Given the description of an element on the screen output the (x, y) to click on. 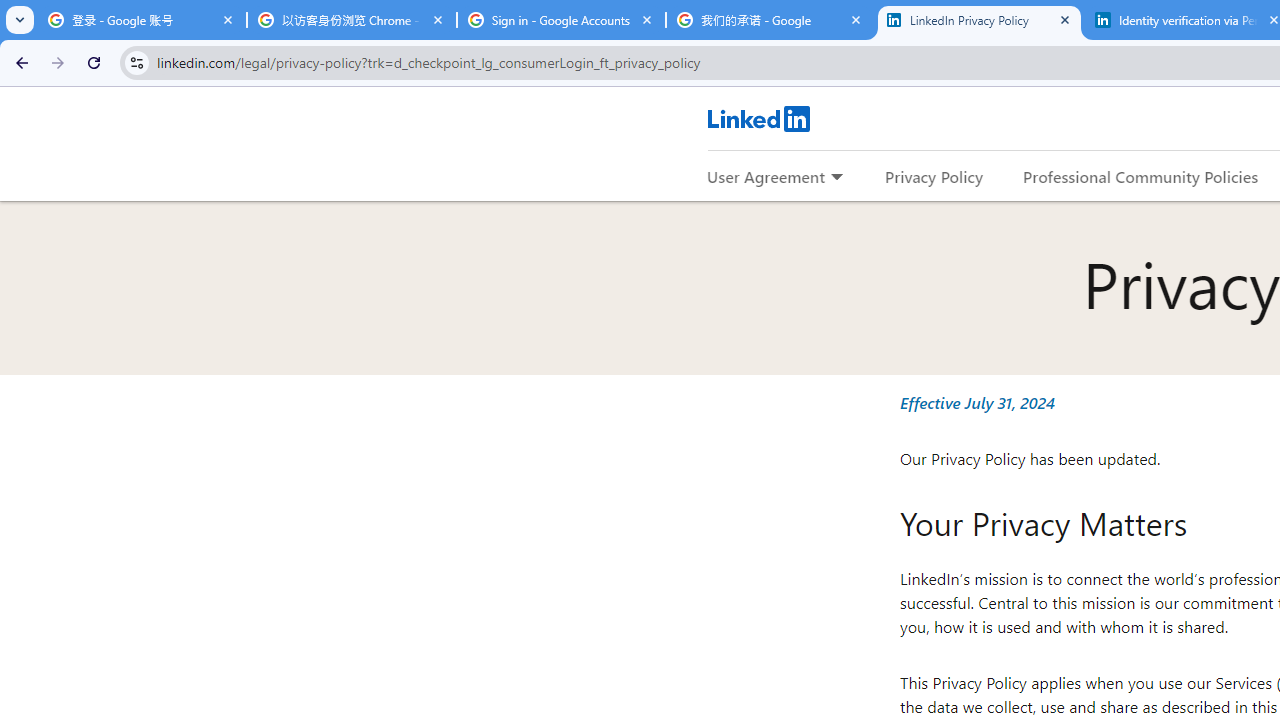
User Agreement (765, 176)
